Given the description of an element on the screen output the (x, y) to click on. 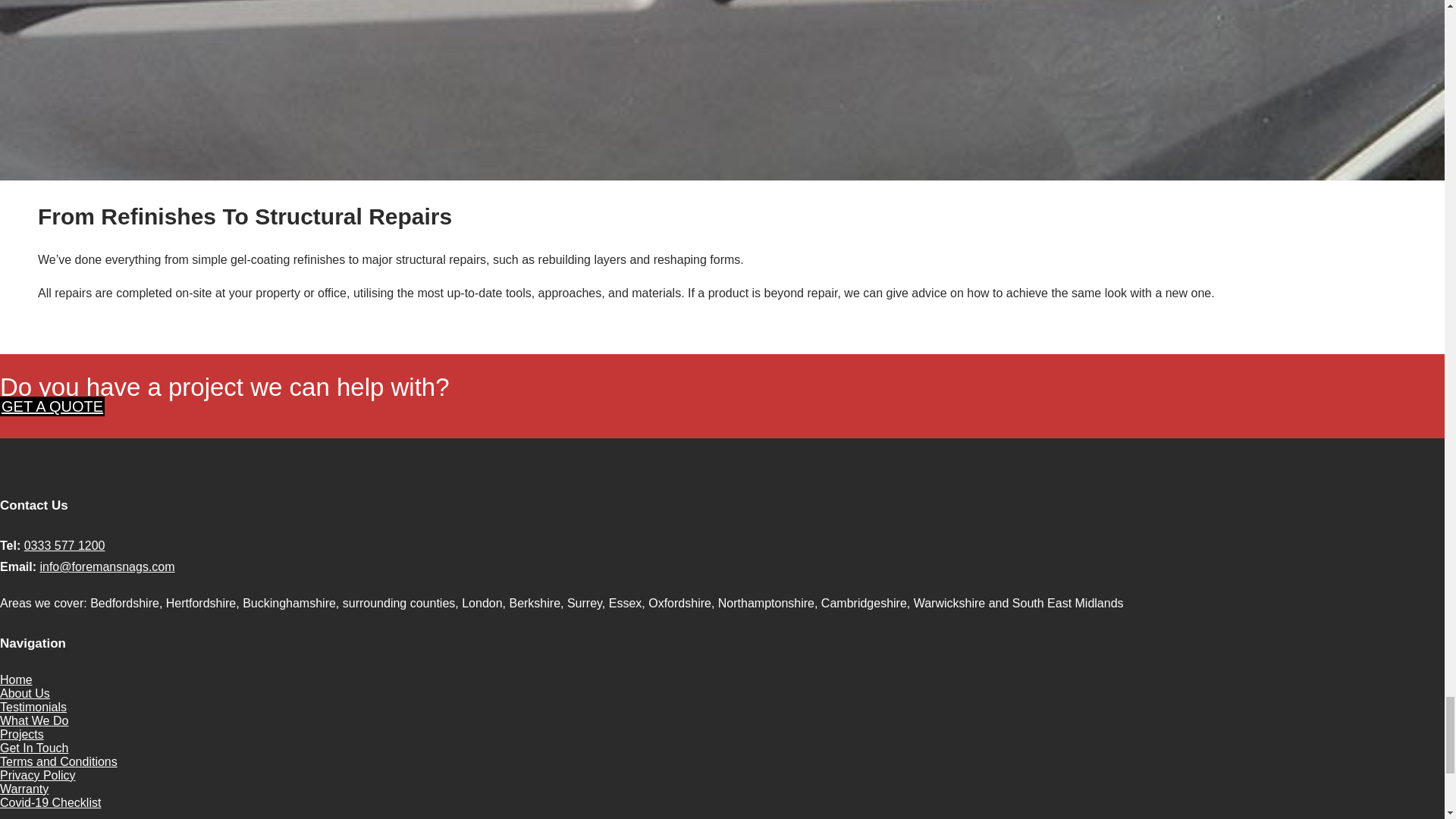
Home (16, 679)
Warranty (24, 788)
Privacy Policy (37, 775)
GET A QUOTE (52, 406)
What We Do (34, 720)
About Us (24, 693)
Projects (21, 734)
0333 577 1200 (64, 545)
Terms and Conditions (58, 761)
Testimonials (33, 707)
Get In Touch (34, 748)
